Given the description of an element on the screen output the (x, y) to click on. 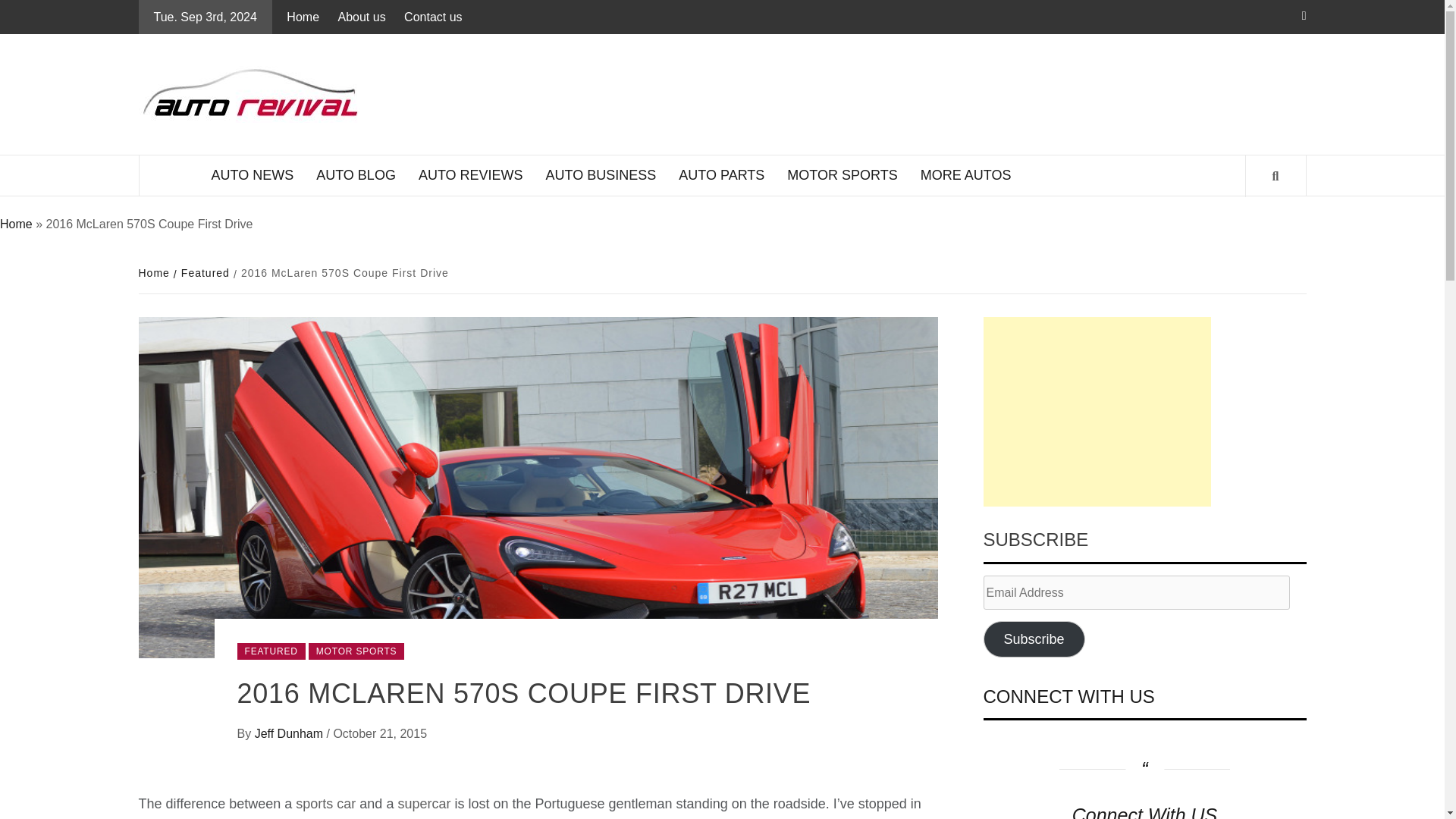
CONNECT WITH US (1068, 696)
Connect With US (1144, 811)
FEATURED (269, 651)
Home (16, 223)
Jeff Dunham (290, 733)
Home (155, 272)
AUTO NEWS (252, 175)
MOTOR SPORTS (842, 175)
About us (361, 17)
AUTO REVIEWS (470, 175)
